Given the description of an element on the screen output the (x, y) to click on. 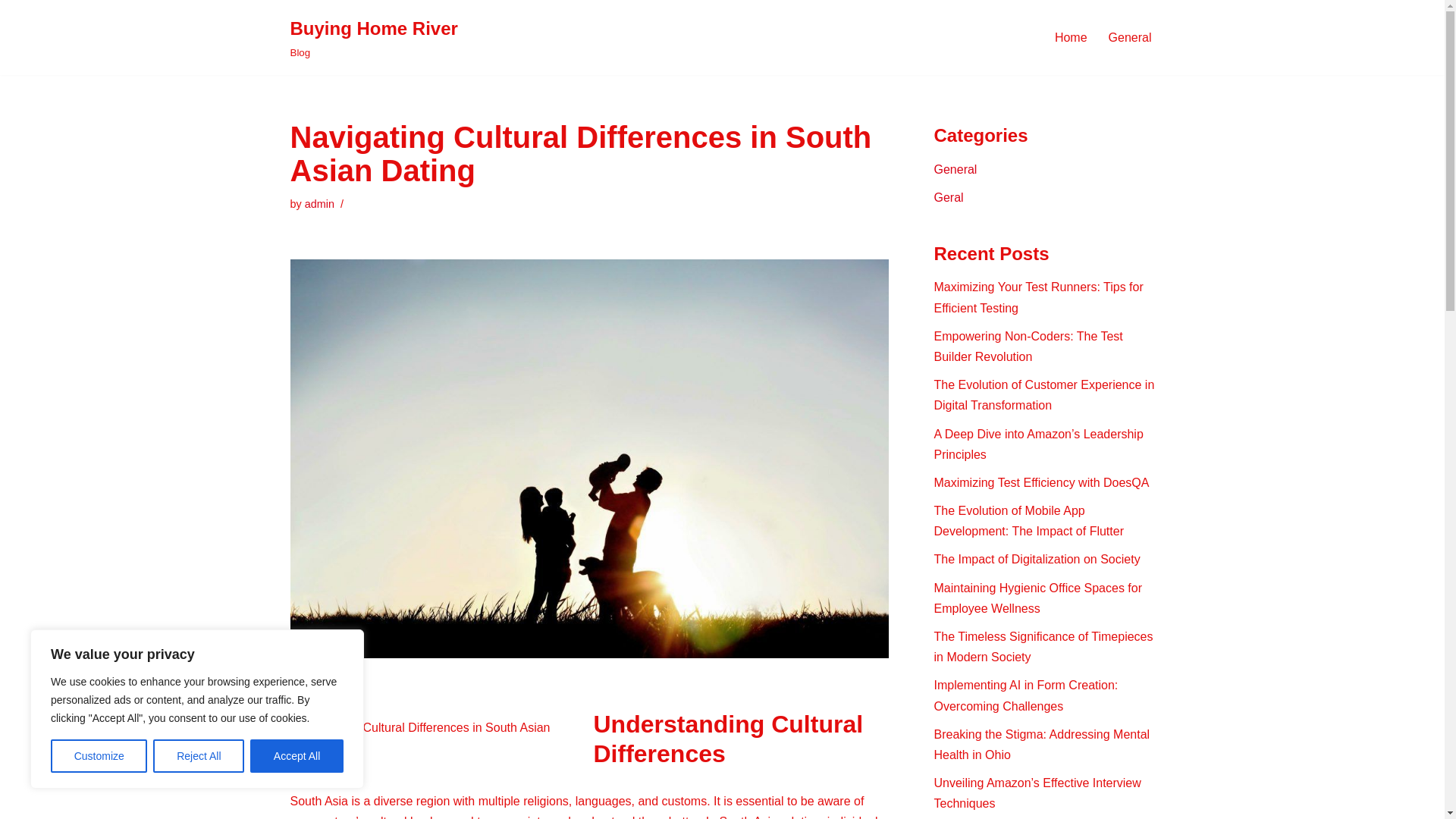
Geral (948, 196)
Maximizing Your Test Runners: Tips for Efficient Testing (1038, 296)
Posts by admin (319, 203)
Customize (98, 756)
Home (1070, 37)
Skip to content (11, 31)
Empowering Non-Coders: The Test Builder Revolution (373, 37)
admin (1028, 346)
Accept All (319, 203)
